Given the description of an element on the screen output the (x, y) to click on. 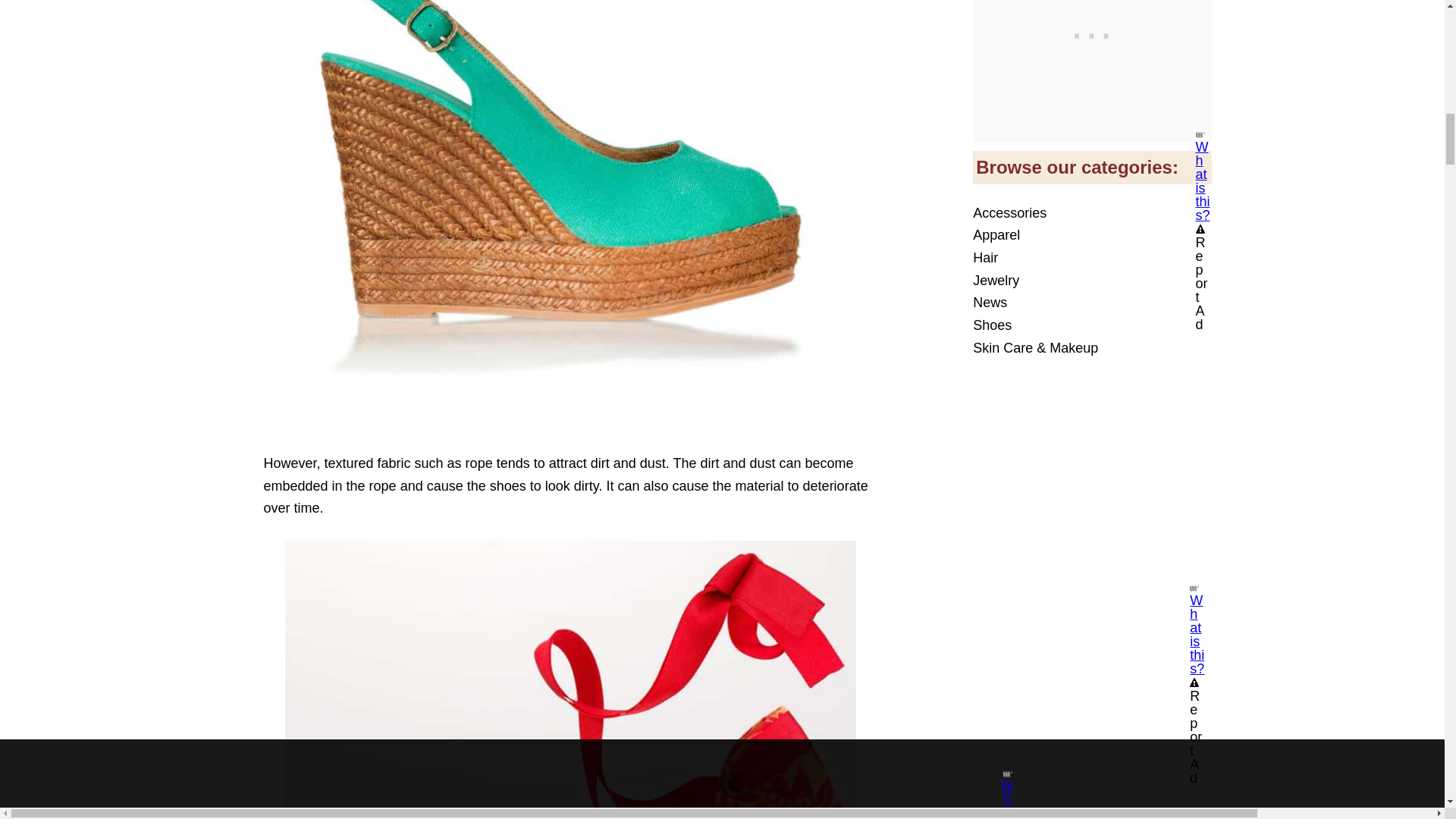
3rd party ad content (1091, 484)
